Given the description of an element on the screen output the (x, y) to click on. 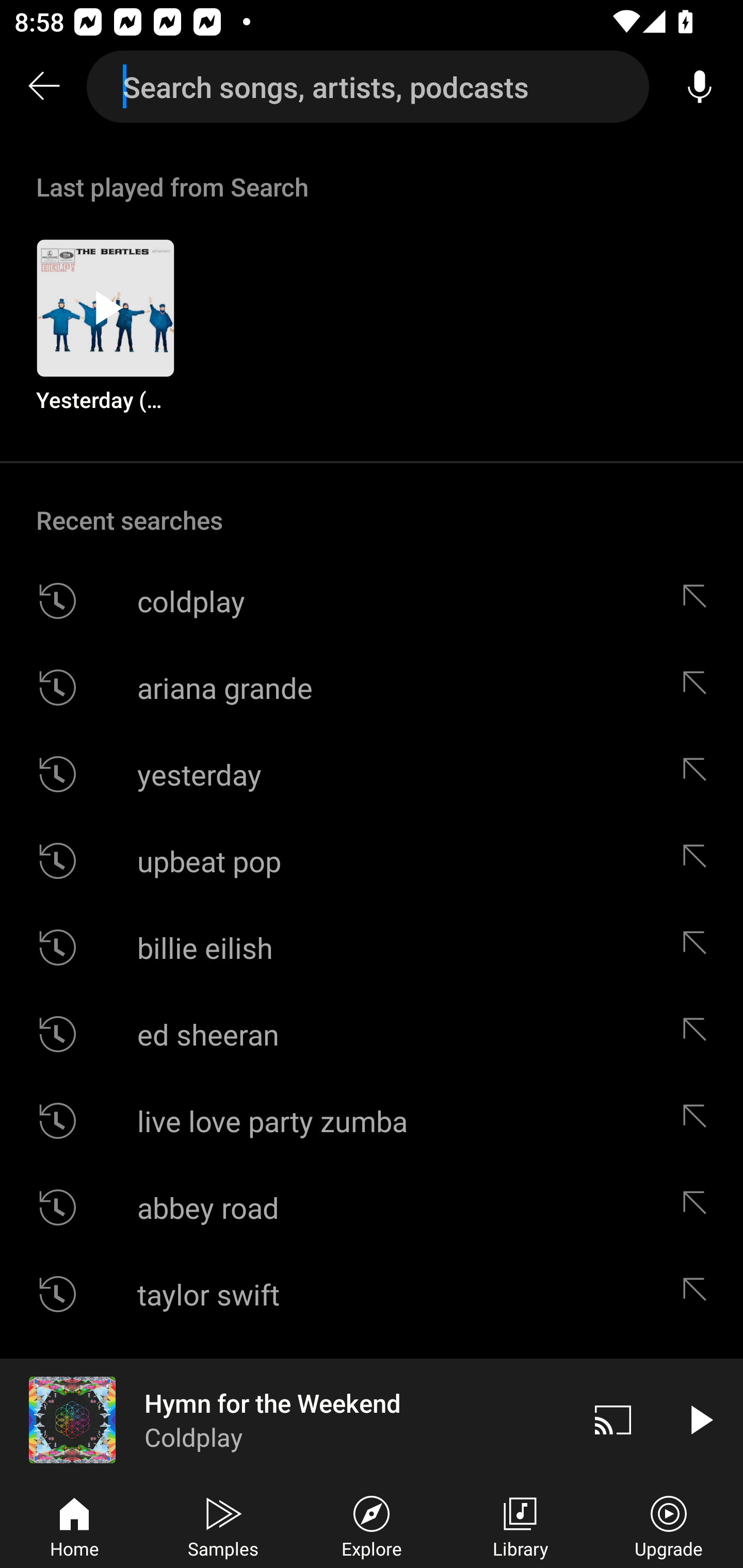
Search back (43, 86)
Search songs, artists, podcasts (367, 86)
Voice search (699, 86)
coldplay Edit suggestion coldplay (371, 601)
Edit suggestion coldplay (699, 601)
ariana grande Edit suggestion ariana grande (371, 687)
Edit suggestion ariana grande (699, 687)
yesterday Edit suggestion yesterday (371, 773)
Edit suggestion yesterday (699, 773)
upbeat pop Edit suggestion upbeat pop (371, 860)
Edit suggestion upbeat pop (699, 860)
billie eilish Edit suggestion billie eilish (371, 947)
Edit suggestion billie eilish (699, 947)
ed sheeran Edit suggestion ed sheeran (371, 1033)
Edit suggestion ed sheeran (699, 1033)
Edit suggestion live love party zumba (699, 1120)
abbey road Edit suggestion abbey road (371, 1207)
Edit suggestion abbey road (699, 1207)
taylor swift Edit suggestion taylor swift (371, 1294)
Edit suggestion taylor swift (699, 1294)
Hymn for the Weekend Coldplay (284, 1419)
Cast. Disconnected (612, 1419)
Play video (699, 1419)
Home (74, 1524)
Samples (222, 1524)
Explore (371, 1524)
Library (519, 1524)
Upgrade (668, 1524)
